Given the description of an element on the screen output the (x, y) to click on. 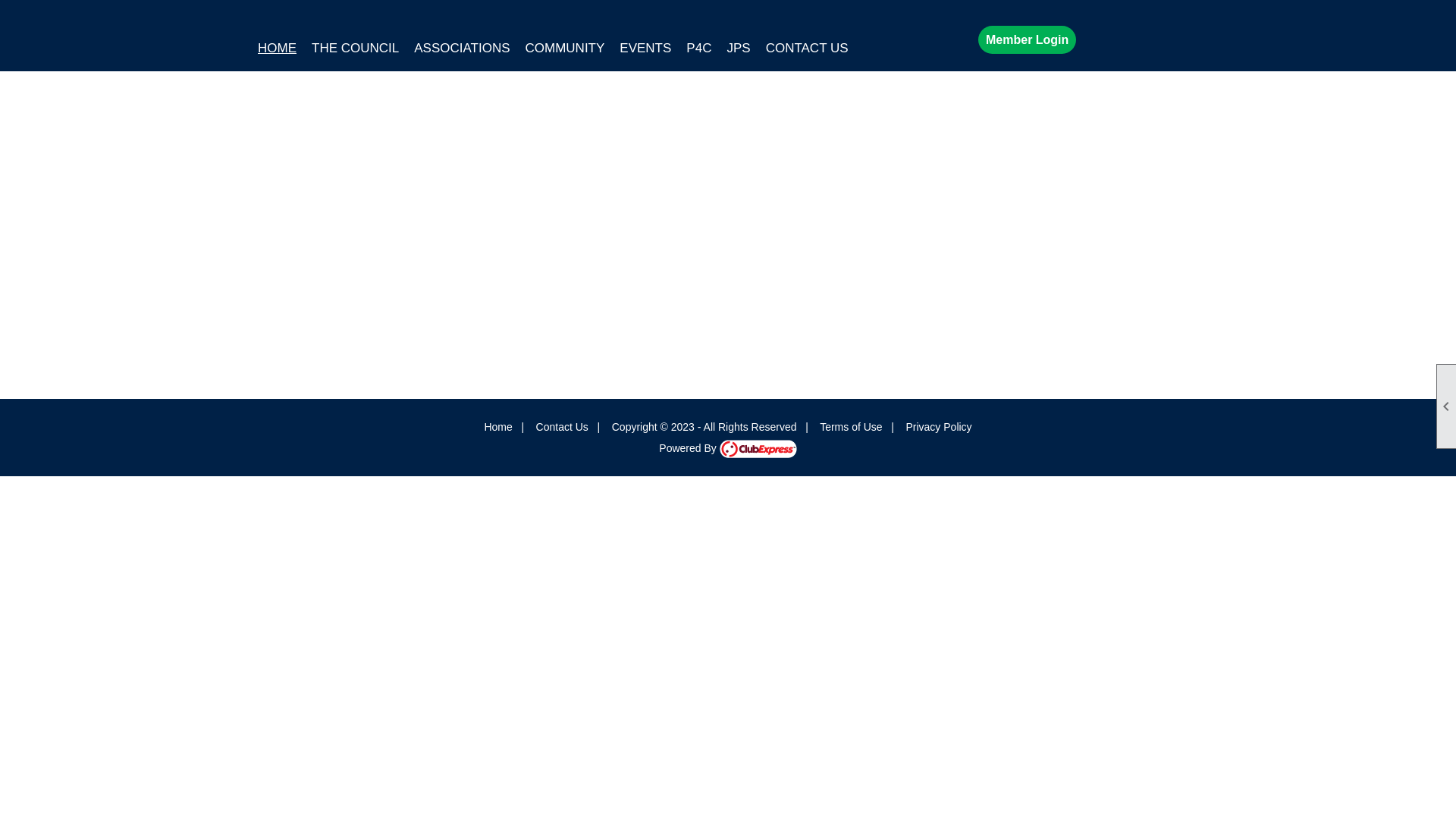
Powered By  Element type: text (727, 448)
JPS Element type: text (737, 48)
Home Element type: text (497, 426)
Contact Us Element type: text (562, 426)
HOME Element type: text (277, 48)
Member Login Element type: text (1027, 39)
Terms of Use Element type: text (850, 426)
Privacy Policy Element type: text (938, 426)
CONTACT US Element type: text (807, 48)
